Given the description of an element on the screen output the (x, y) to click on. 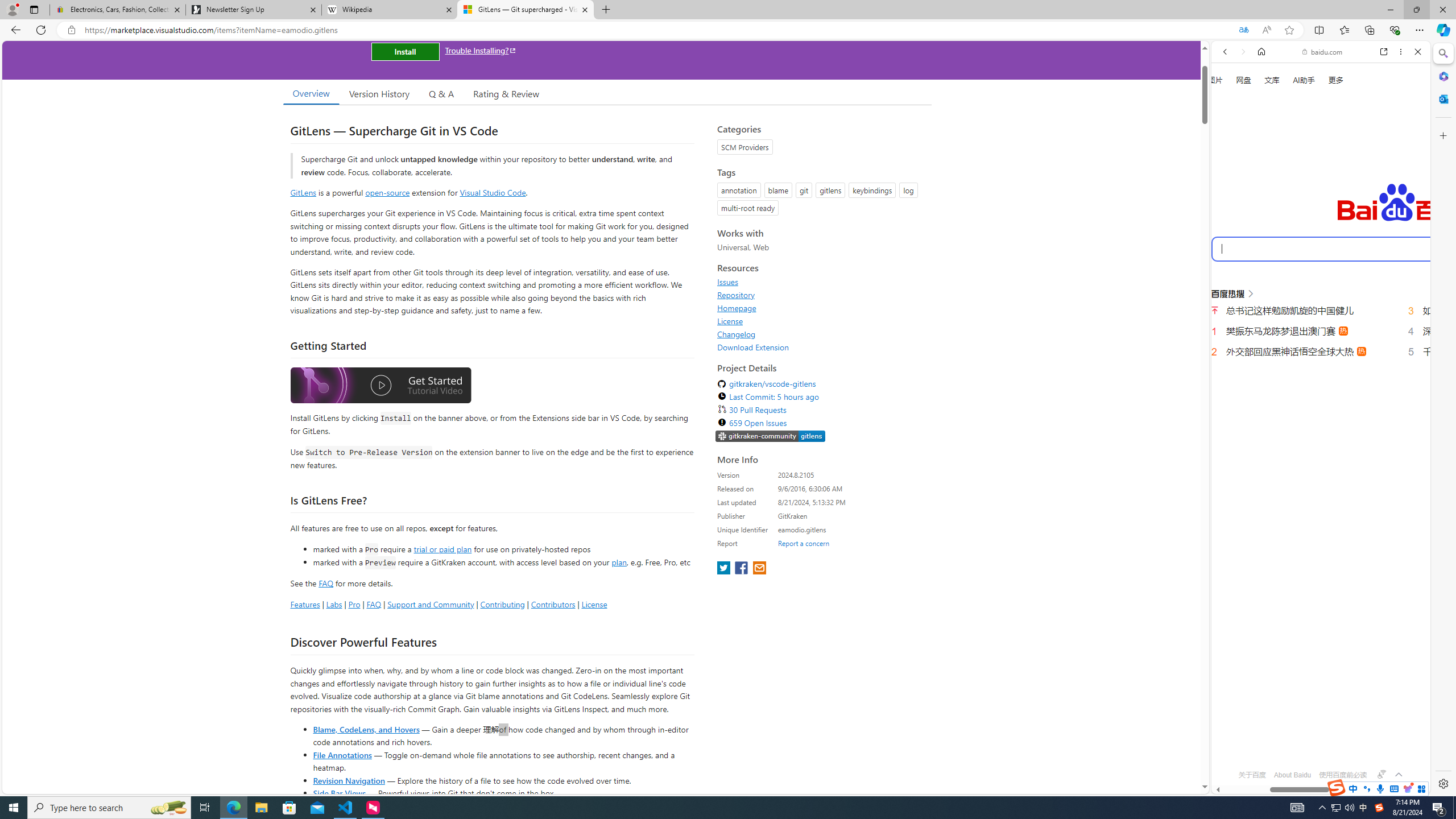
Side bar (1443, 418)
OFTV - Enjoy videos from your favorite OF creators! (1315, 753)
Home (1261, 51)
Blame, CodeLens, and Hovers (366, 728)
OF | English meaning - Cambridge Dictionary (1315, 238)
Search the web (1326, 78)
IMAGES (1262, 192)
Preferences (1403, 191)
